Given the description of an element on the screen output the (x, y) to click on. 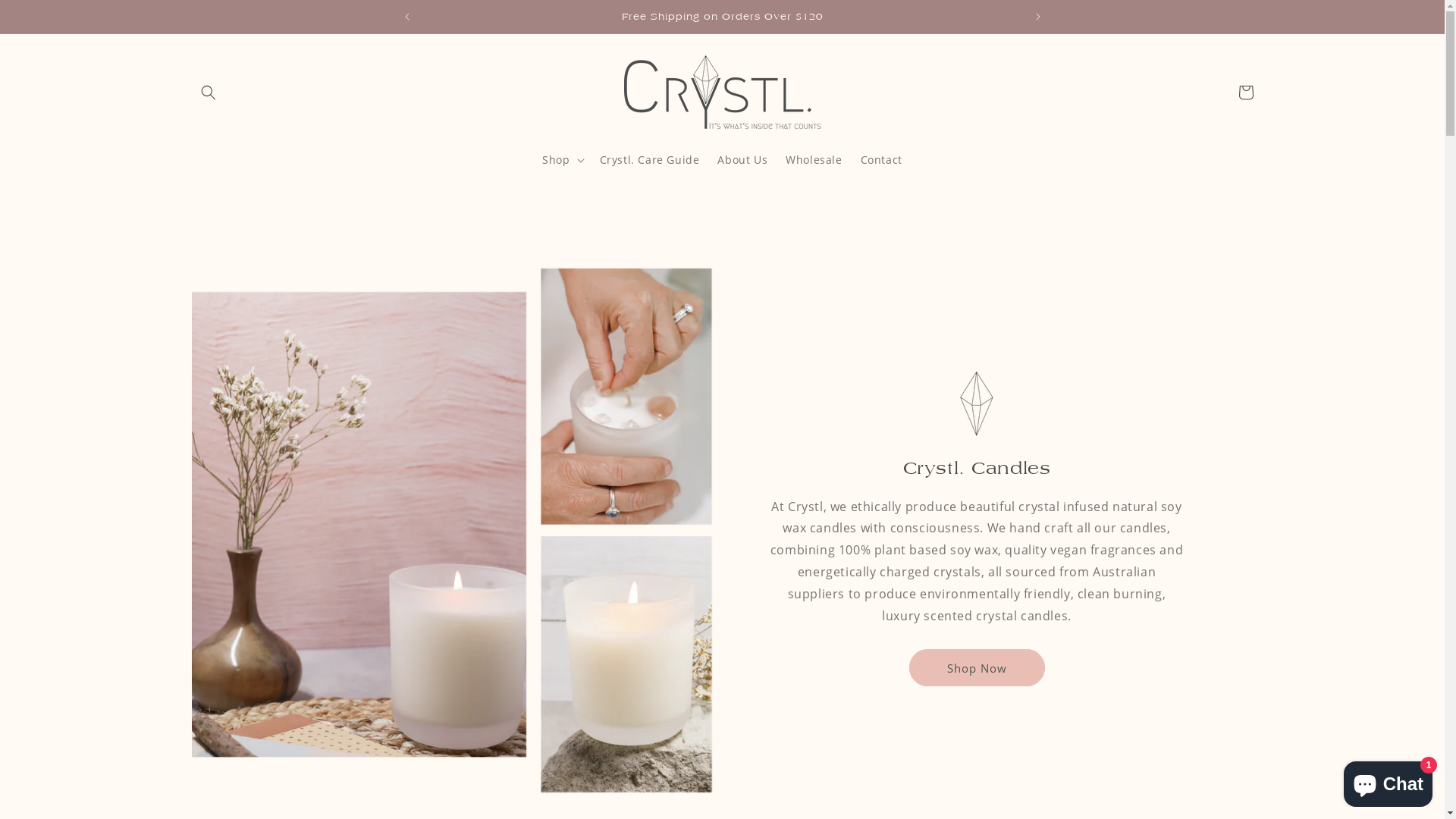
Crystl. Care Guide Element type: text (649, 159)
About Us Element type: text (742, 159)
Shopify online store chat Element type: hover (1388, 780)
Contact Element type: text (881, 159)
Cart Element type: text (1244, 92)
Wholesale Element type: text (813, 159)
Shop Now Element type: text (976, 667)
